Given the description of an element on the screen output the (x, y) to click on. 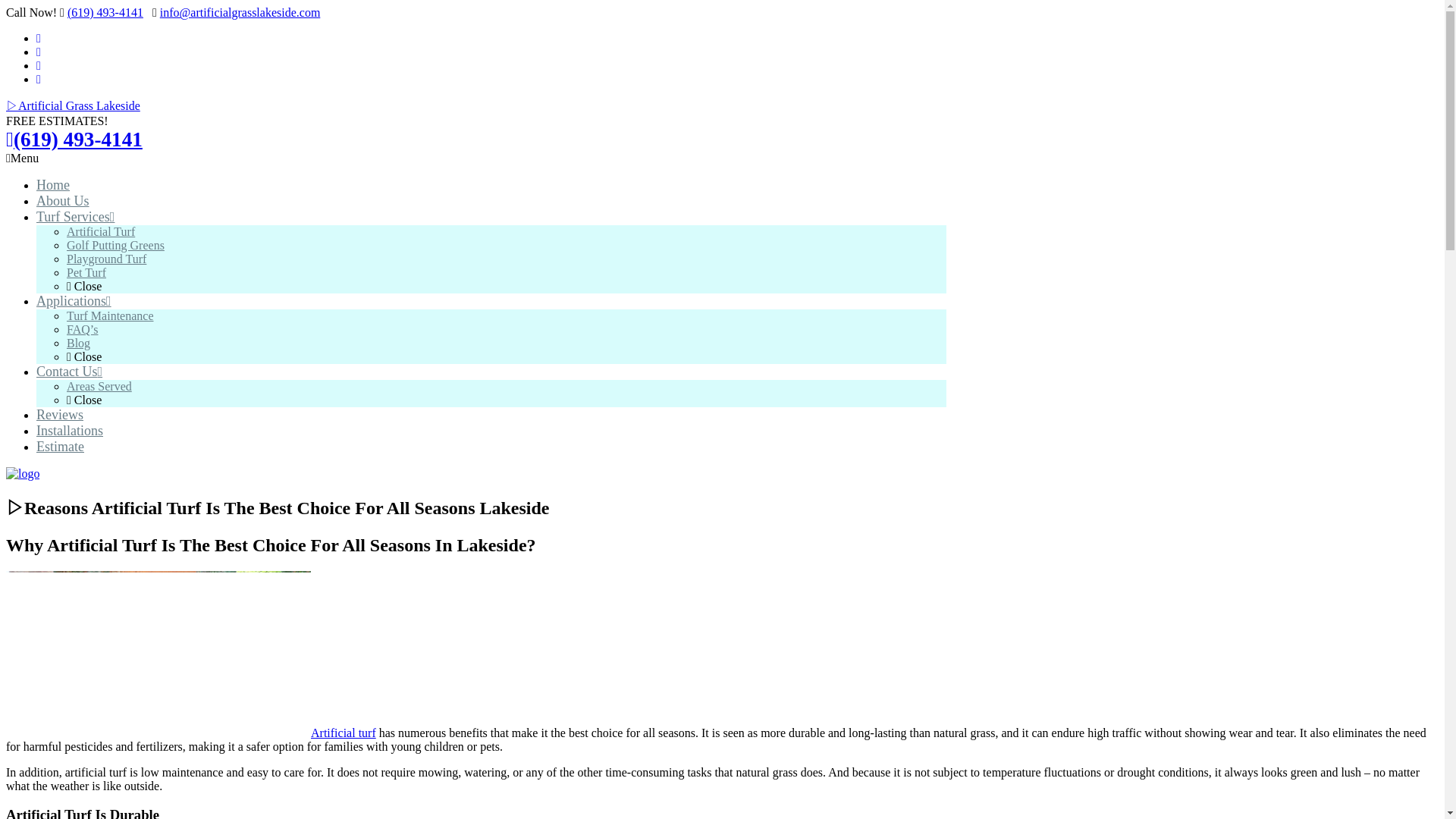
Reviews (59, 414)
Contact Us (68, 371)
Artificial turf (343, 732)
Turf Maintenance (110, 315)
Estimate (60, 446)
Home (52, 184)
Pet Turf (86, 272)
Turf Services (75, 216)
Golf Putting Greens (115, 245)
Areas Served (99, 386)
Blog (78, 342)
Menu (22, 157)
Playground Turf (106, 258)
Artificial Turf (100, 231)
Applications (74, 300)
